Given the description of an element on the screen output the (x, y) to click on. 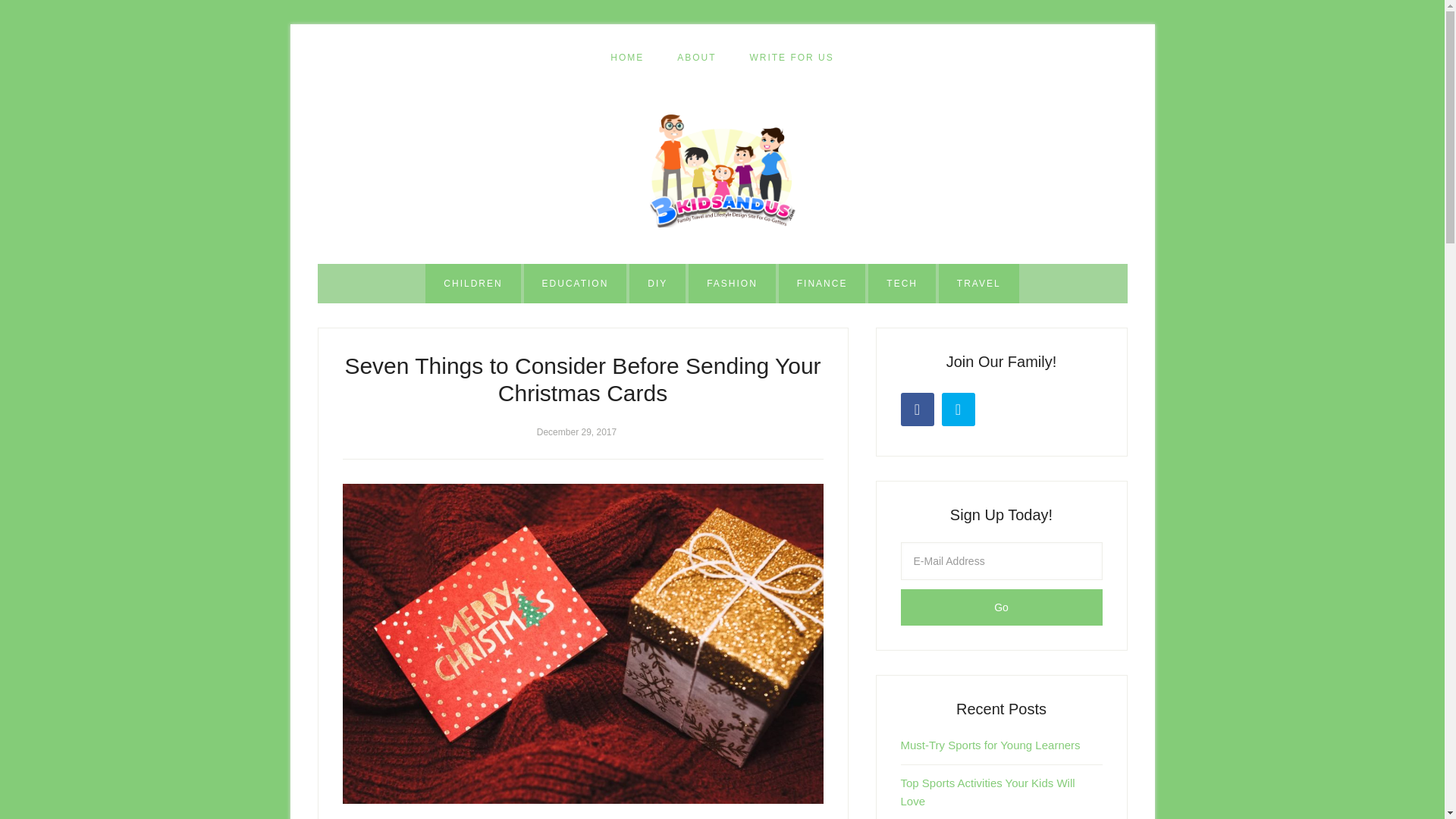
HOME (627, 57)
Top Sports Activities Your Kids Will Love (988, 791)
EDUCATION (575, 283)
WRITE FOR US (790, 57)
FINANCE (822, 283)
ABOUT (696, 57)
3 Kids and Us (721, 170)
DIY (656, 283)
TECH (901, 283)
Go (1001, 606)
